Given the description of an element on the screen output the (x, y) to click on. 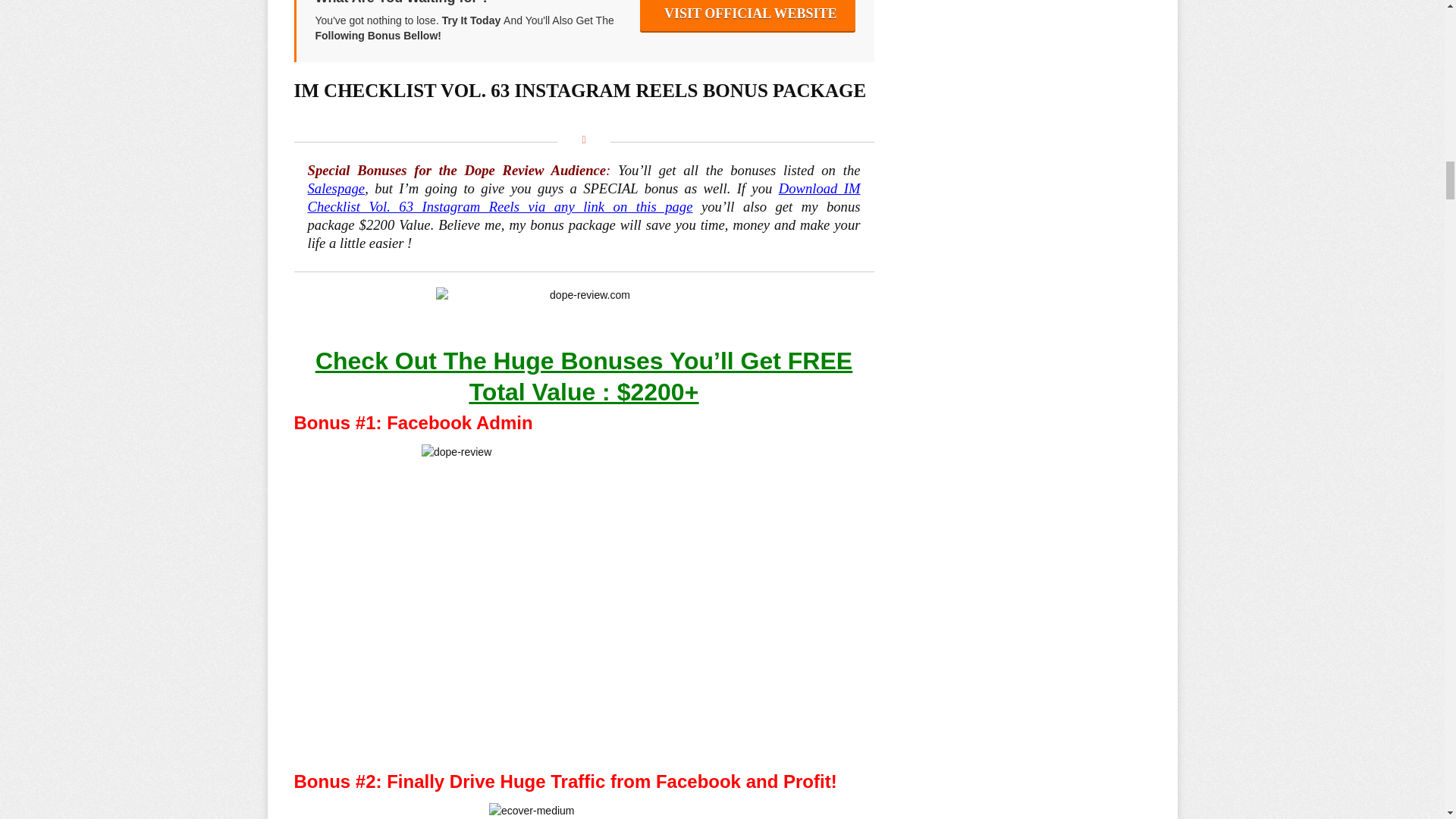
VISIT OFFICIAL WEBSITE (747, 15)
Salespage (336, 188)
